Given the description of an element on the screen output the (x, y) to click on. 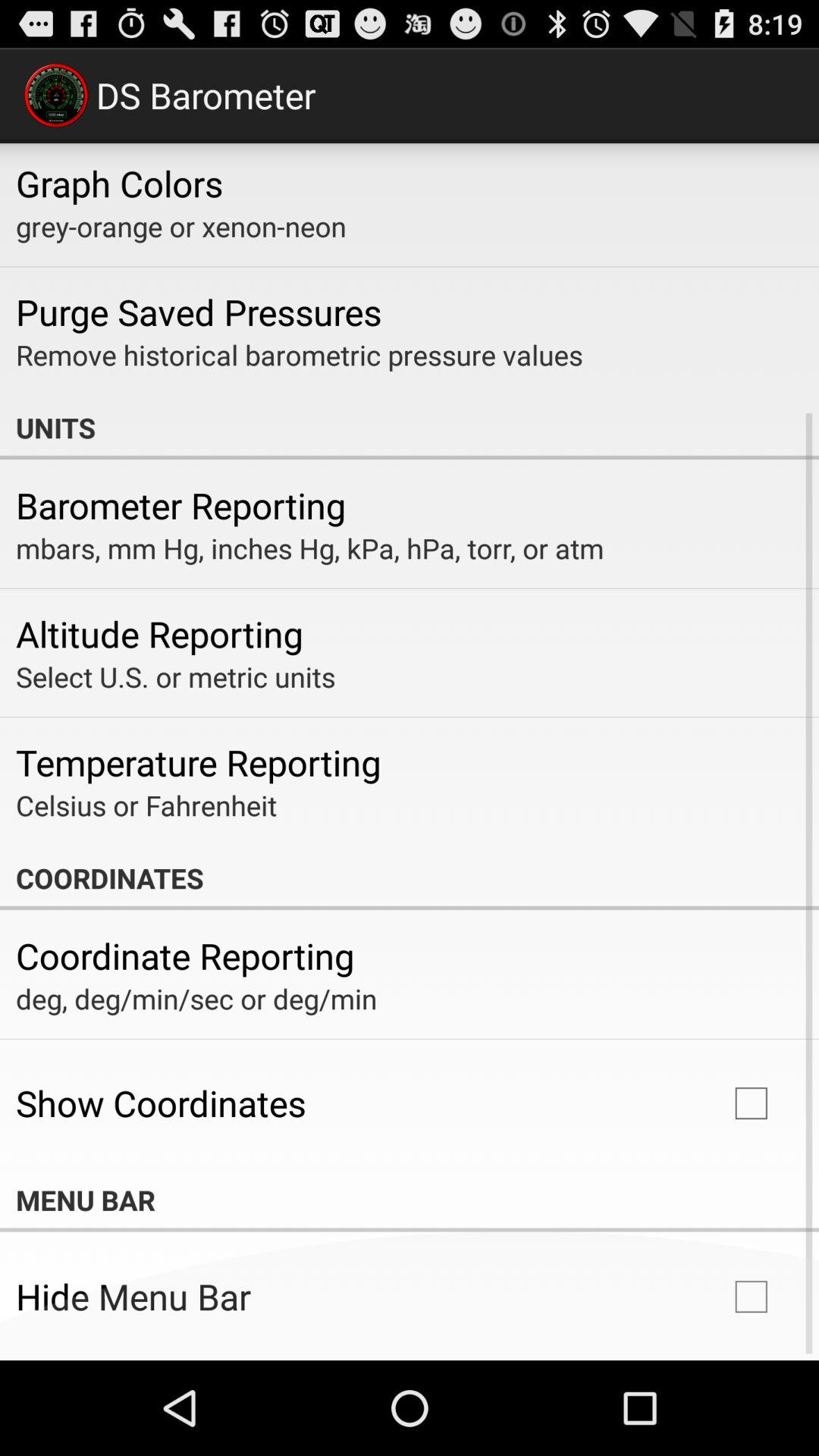
jump until mbars mm hg icon (309, 548)
